Given the description of an element on the screen output the (x, y) to click on. 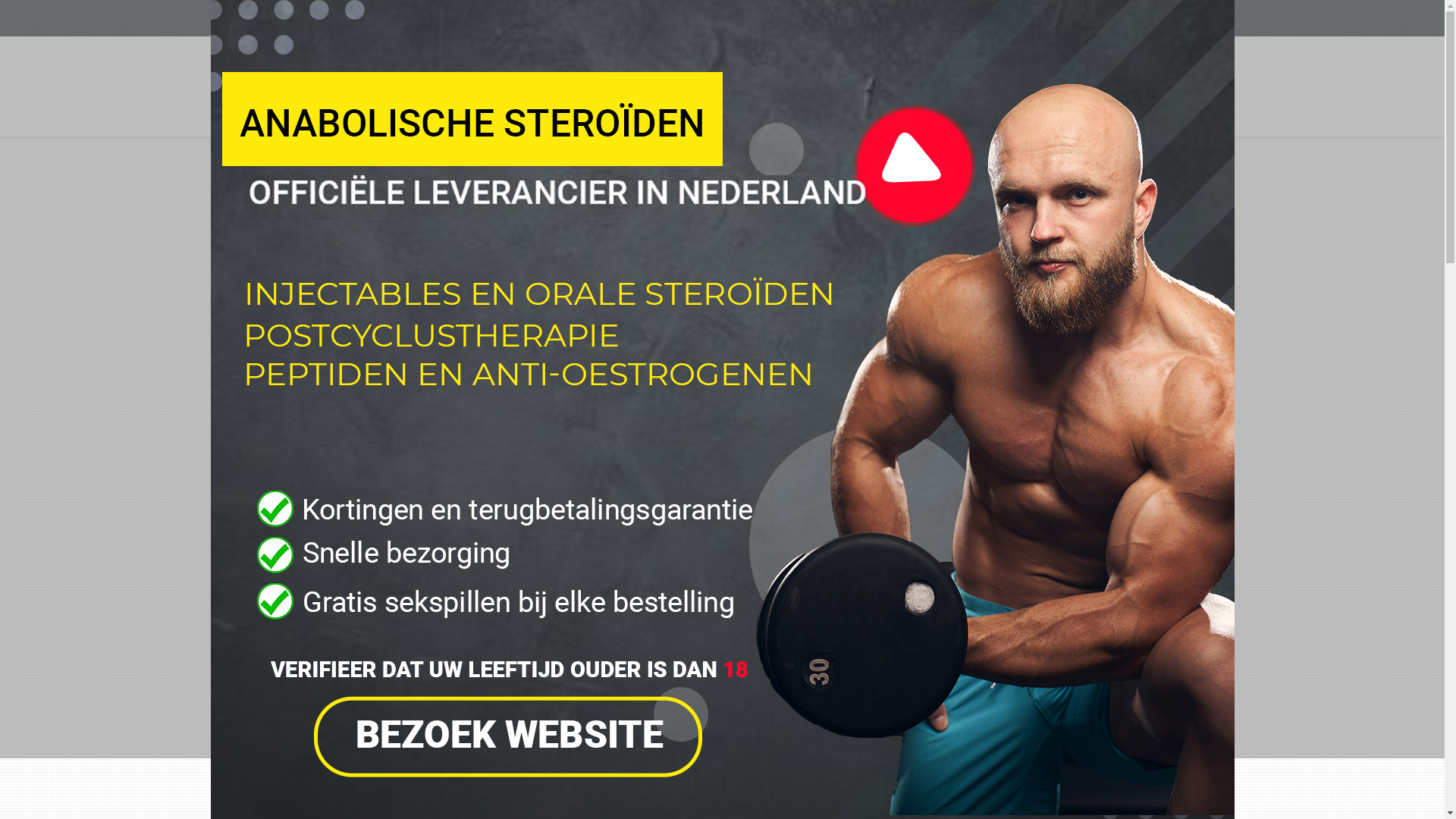
VERLIES VAN HET GEWICHT Element type: text (364, 438)
ERECTIE PILLEN Element type: text (1103, 70)
HUID Element type: text (1164, 70)
Home Element type: text (488, 150)
VERLIES VAN HET GEWICHT Element type: text (1111, 106)
ORALE Element type: text (364, 242)
OMSCHRIJVING Element type: text (600, 768)
HORMONEN EN PEPTIDEN Element type: text (364, 340)
Beoordeel Element type: text (956, 652)
HORMONEN EN PEPTIDEN Element type: text (996, 70)
Trenabol Element type: text (530, 150)
INJECTEERBARE Element type: text (671, 70)
HAARUITVAL Element type: text (364, 307)
HUID Element type: text (364, 405)
INJECTEERBARE Element type: text (364, 209)
ANTI OESTROGENEN Element type: text (364, 275)
PRODUCT VERGELIJK Element type: text (896, 566)
ORALE Element type: text (735, 70)
BEOORDELINGEN (0) Element type: text (844, 768)
British Dragon Element type: text (900, 247)
HAARUITVAL Element type: text (895, 70)
ANTI OESTROGENEN Element type: text (807, 70)
registreren Element type: text (834, 17)
VERLANGLIJST Element type: text (883, 530)
Delen Element type: text (873, 685)
ERECTIE PILLEN Element type: text (364, 373)
Blog Element type: text (484, 18)
inloggen Element type: text (775, 17)
0 beoordeling(en). Element type: text (878, 645)
